Given the description of an element on the screen output the (x, y) to click on. 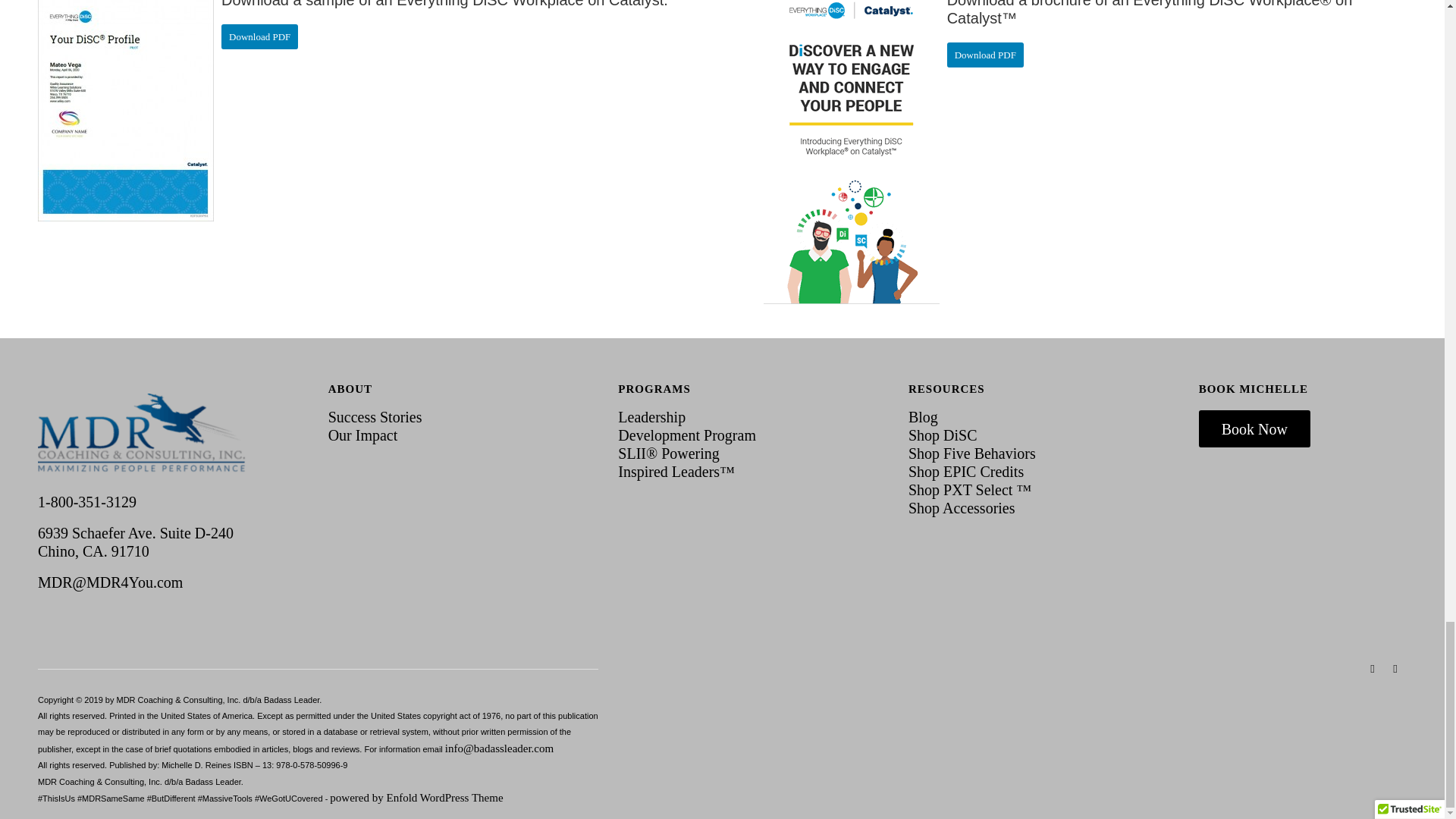
Facebook (1395, 668)
LinkedIn (1372, 668)
